Given the description of an element on the screen output the (x, y) to click on. 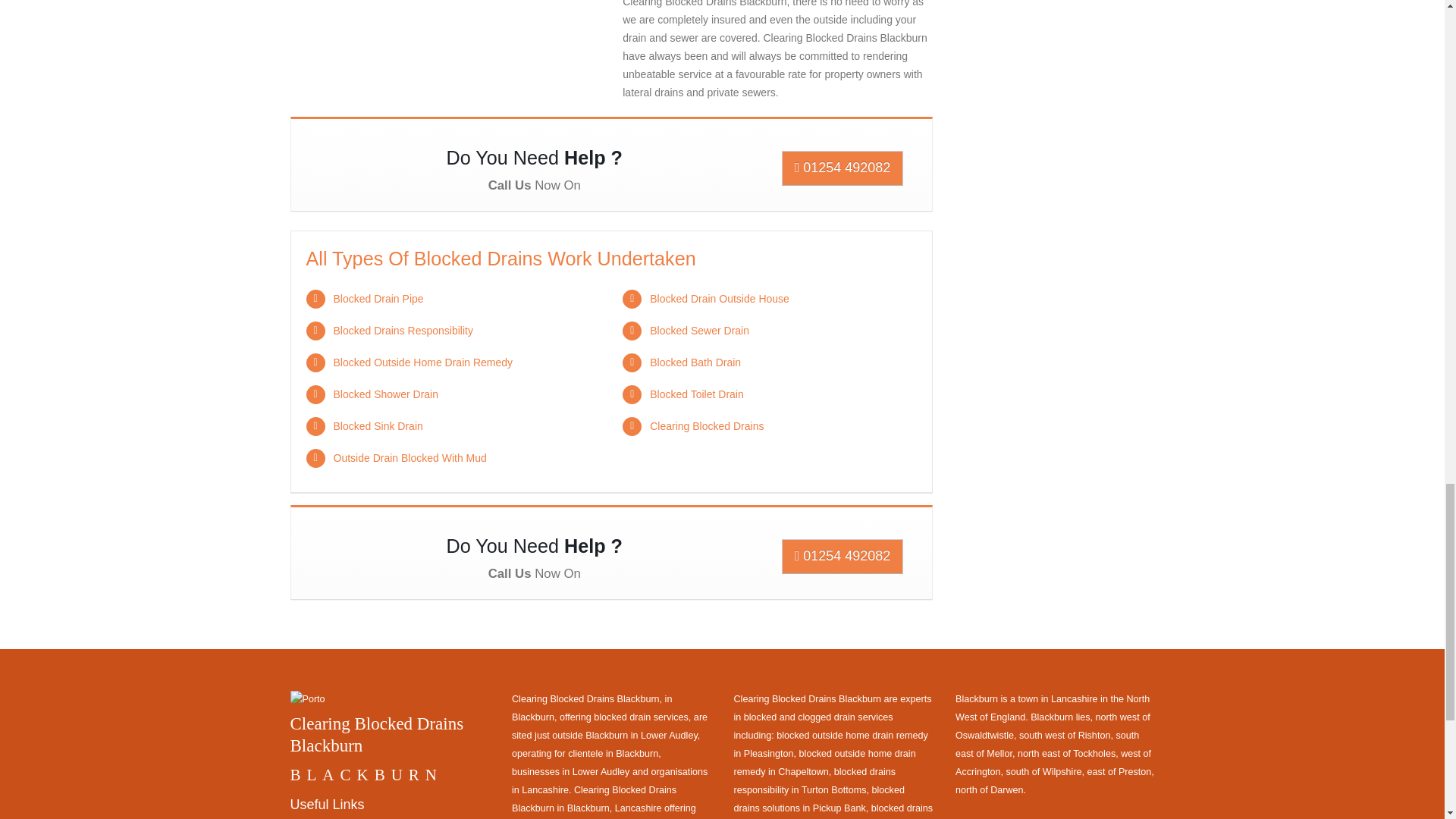
Blocked Shower Drain (386, 394)
Blocked Drains Responsibility (403, 330)
Clearing Blocked Drains (705, 426)
Blocked Sewer Drain (699, 330)
Blocked Sink Drain (378, 426)
Blocked Drain Pipe (378, 298)
01254 492082 (842, 556)
Blocked Toilet Drain (695, 394)
Blocked Outside Home Drain Remedy (423, 362)
Blocked Drain Outside House (719, 298)
